Given the description of an element on the screen output the (x, y) to click on. 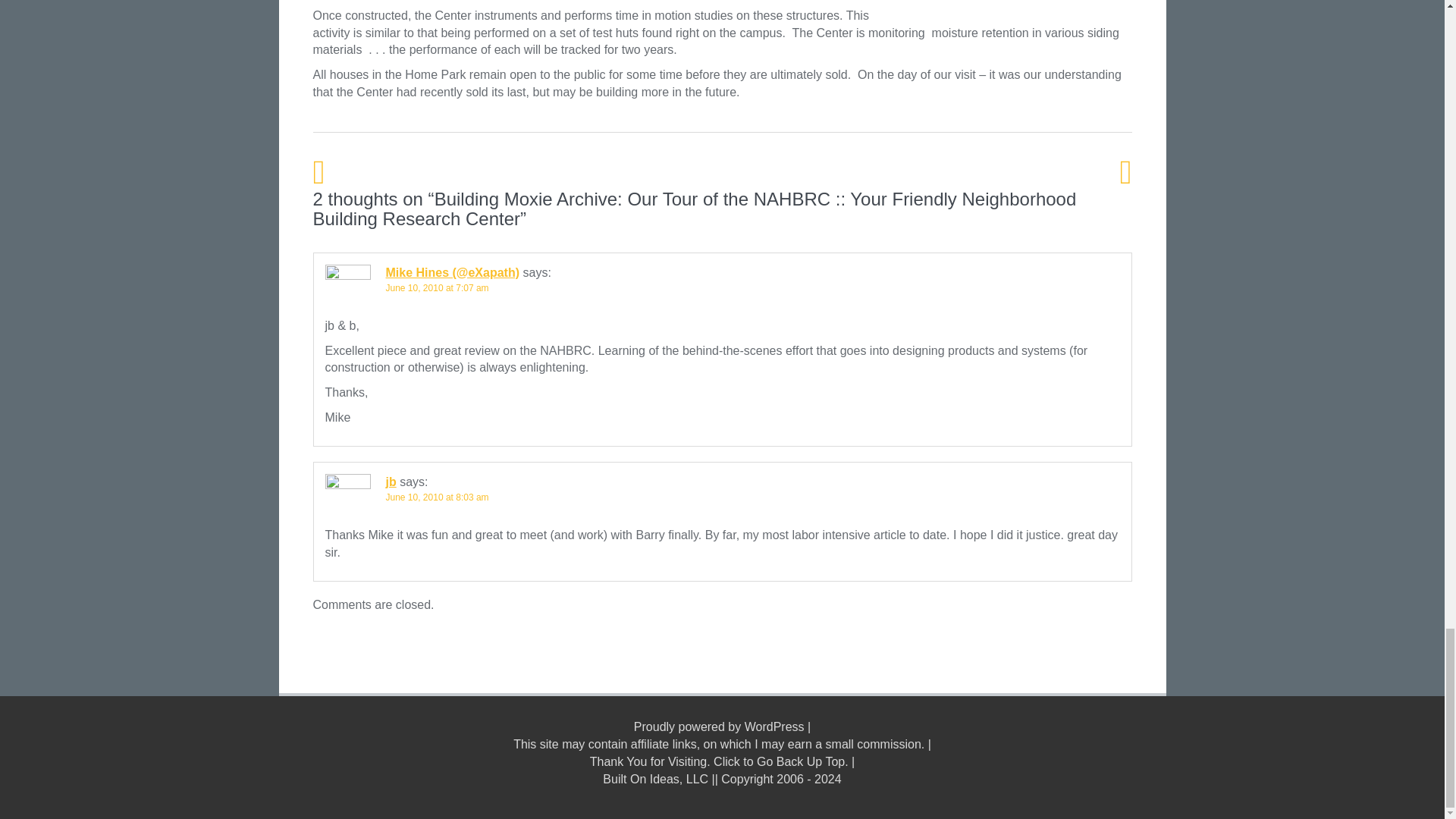
June 10, 2010 at 7:07 am (436, 287)
Proudly powered by WordPress (719, 726)
June 10, 2010 at 8:03 am (436, 497)
Click to Go Back Up Top. (780, 761)
